Given the description of an element on the screen output the (x, y) to click on. 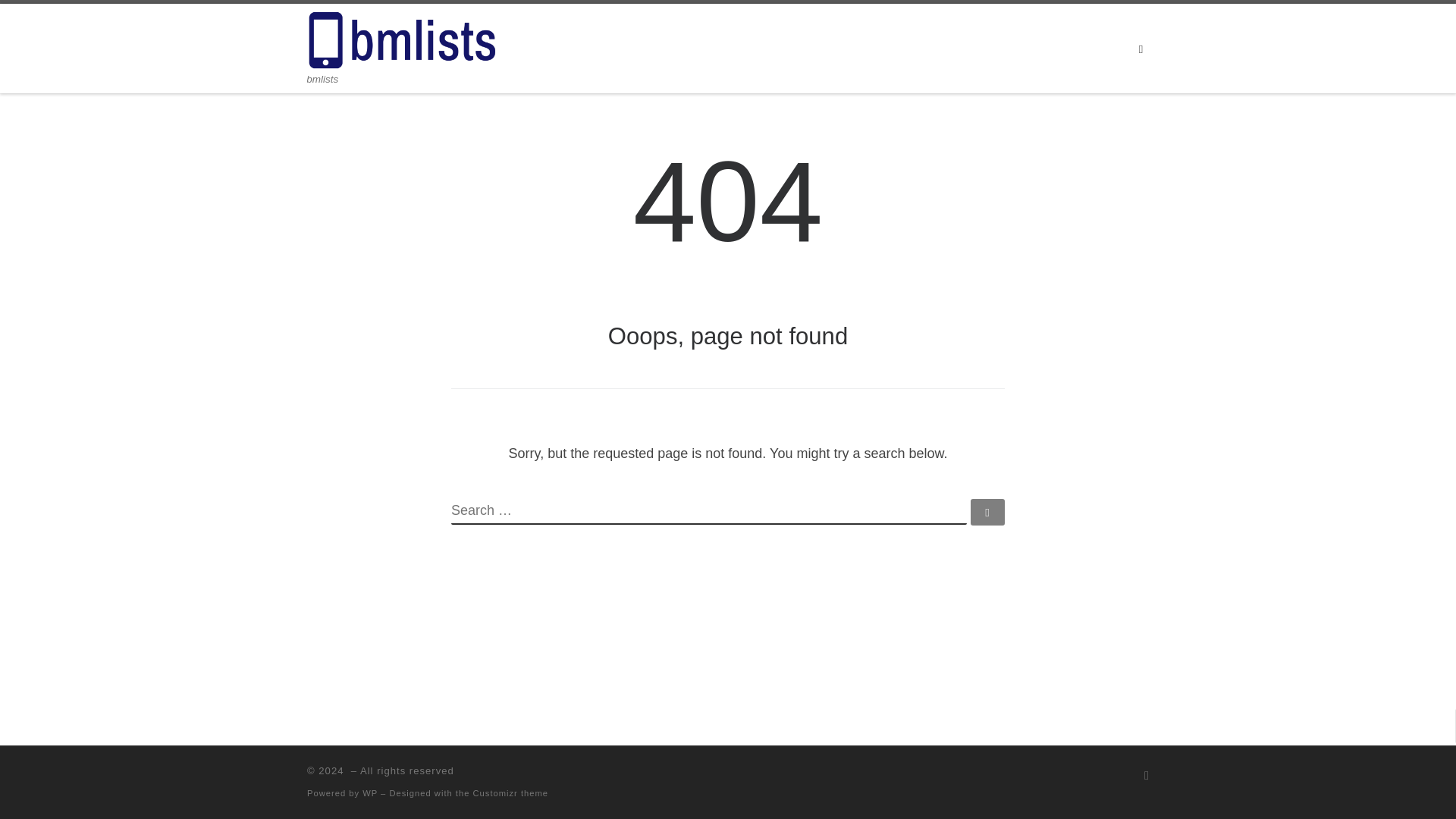
Customizr theme (510, 792)
Customizr theme (510, 792)
WP (369, 792)
Skip to content (60, 20)
Powered by WordPress (369, 792)
